Given the description of an element on the screen output the (x, y) to click on. 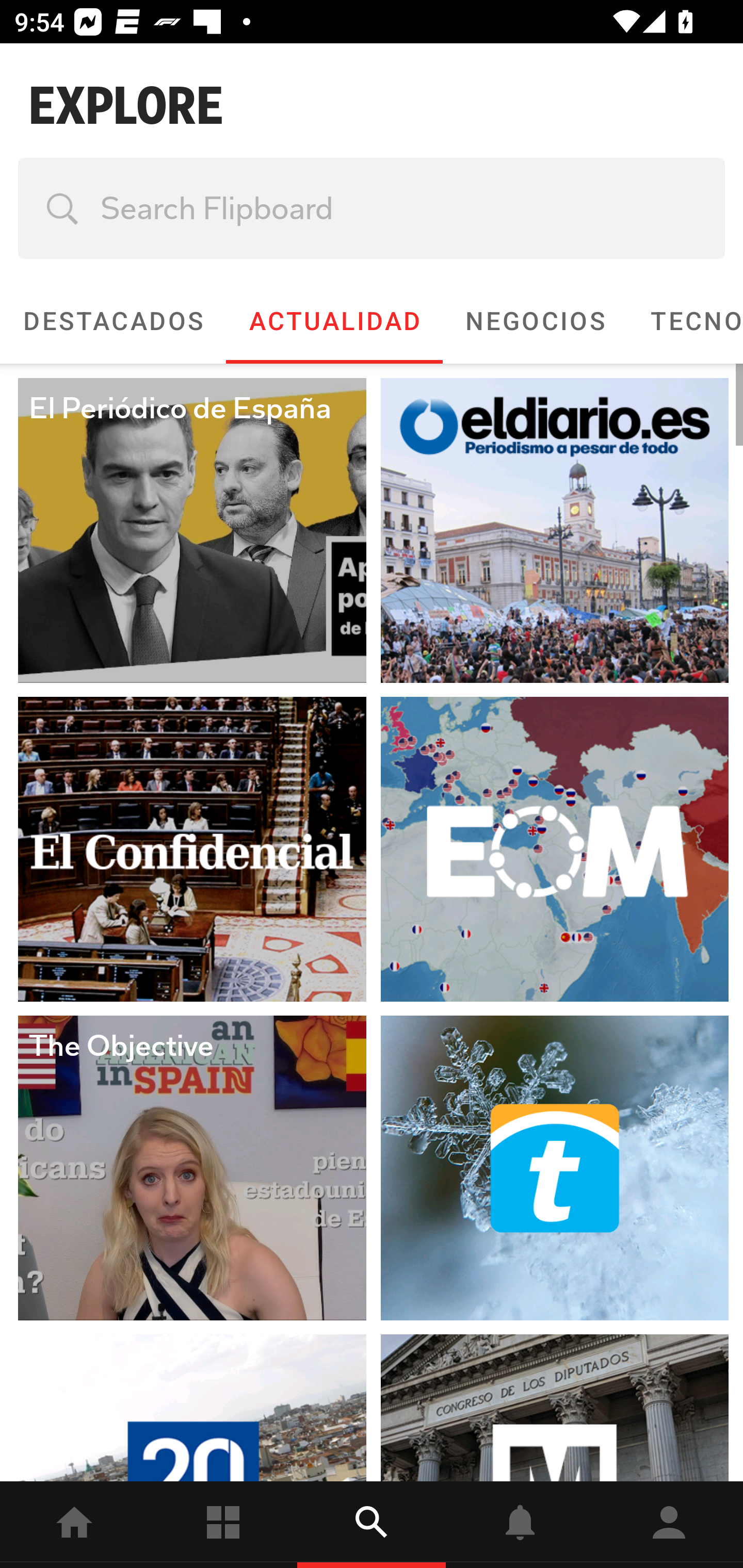
Search Flipboard (371, 208)
Destacados DESTACADOS (112, 320)
Negocios NEGOCIOS (534, 320)
Tecnología & Ciencia TECNOLOGÍA & CIENCIA (685, 320)
home (74, 1524)
Following (222, 1524)
explore (371, 1524)
Notifications (519, 1524)
Profile (668, 1524)
